Given the description of an element on the screen output the (x, y) to click on. 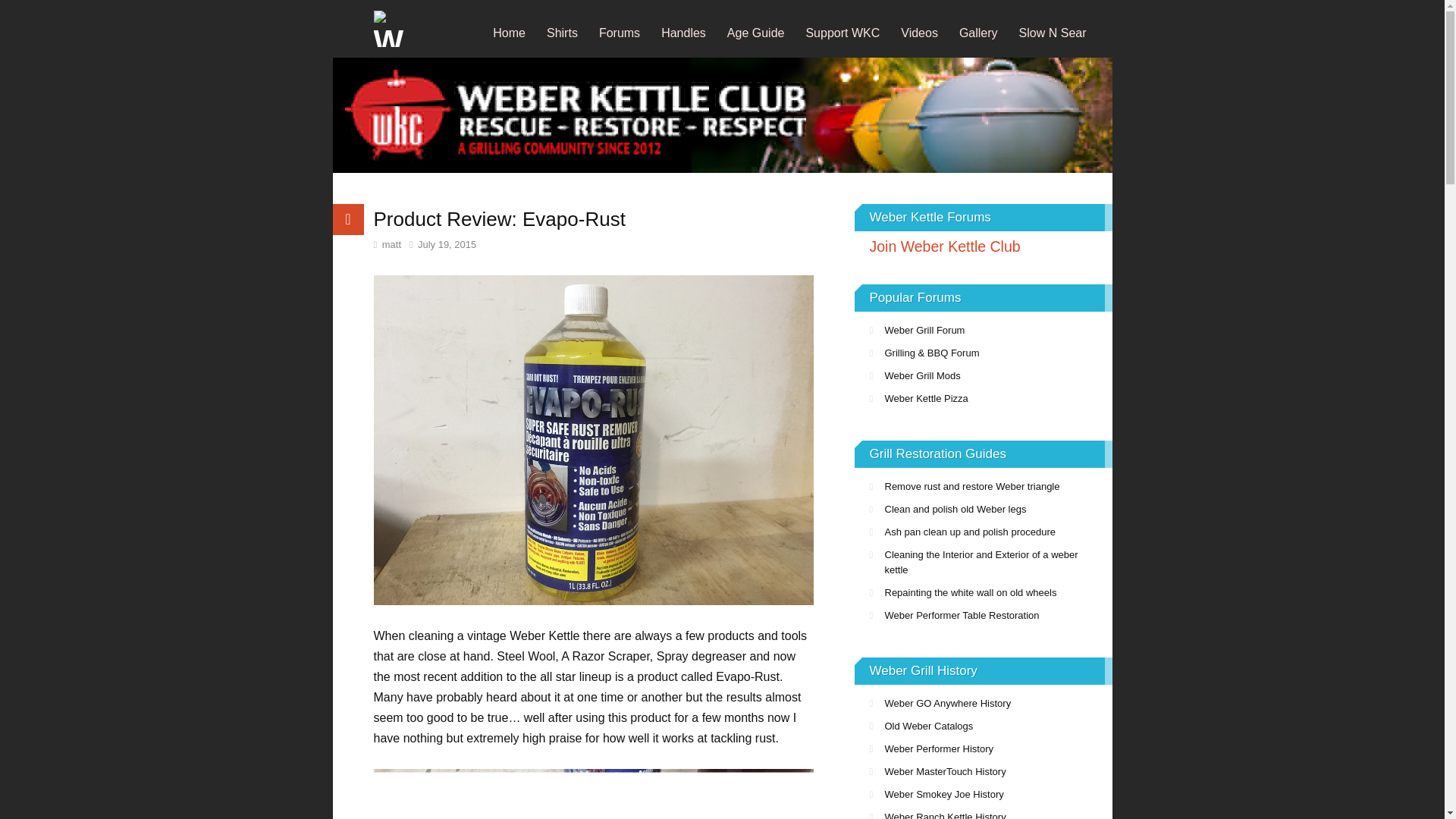
Weber GO Anywhere History (982, 703)
Home (508, 32)
Forums (619, 32)
Gallery (979, 32)
Repainting the white wall on old wheels (982, 592)
Clean and polish old Weber legs (982, 508)
Slow N Sear (1053, 32)
2015-07-19 (443, 244)
Join Weber Kettle Club (982, 246)
Videos (919, 32)
